Given the description of an element on the screen output the (x, y) to click on. 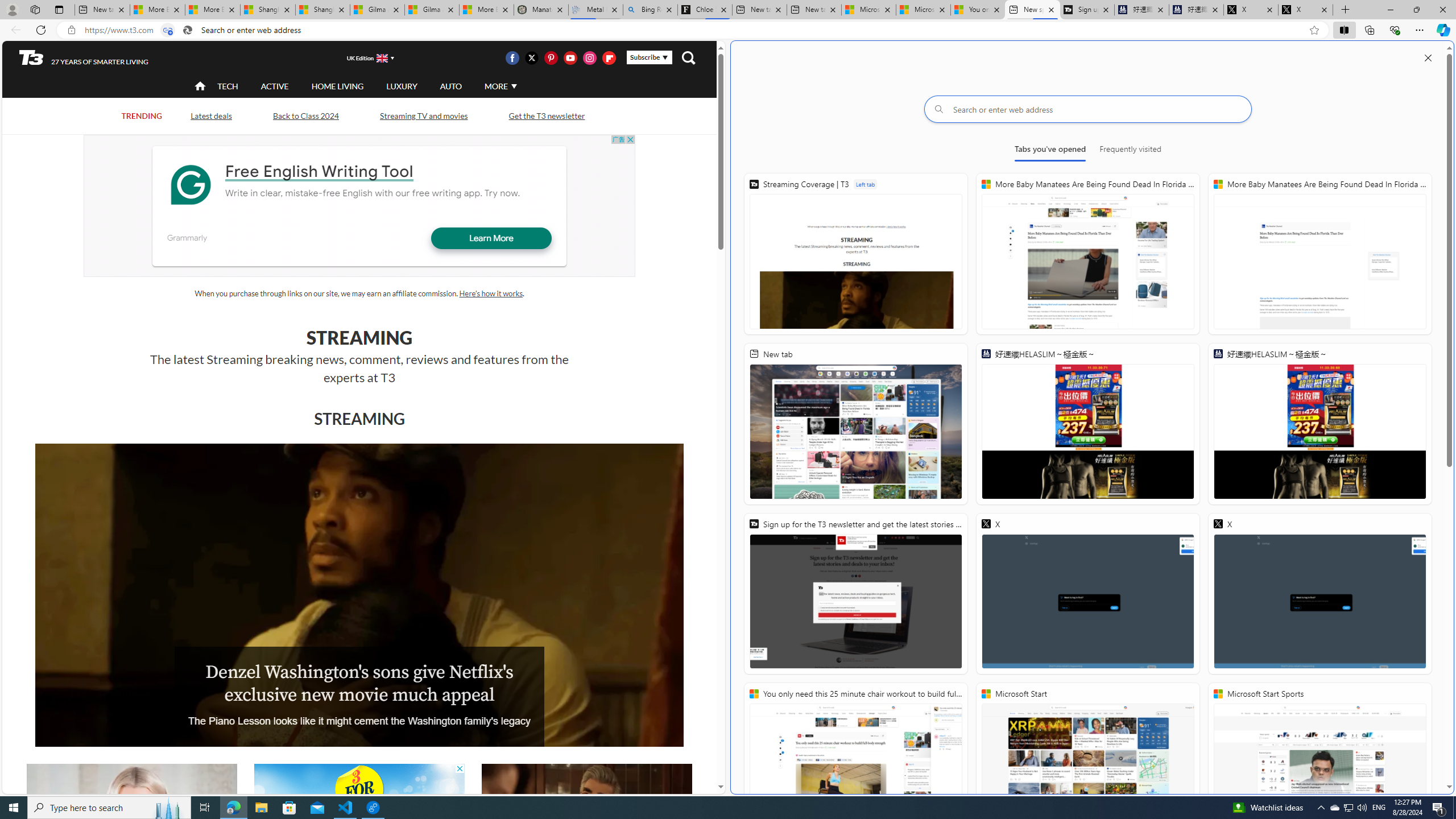
UK Edition (365, 57)
Class: navigation__search (688, 57)
Class: navigation__item (199, 86)
LUXURY (401, 86)
Visit us on Facebook (512, 57)
Shanghai, China weather forecast | Microsoft Weather (323, 9)
Visit us on Pintrest (550, 57)
